Given the description of an element on the screen output the (x, y) to click on. 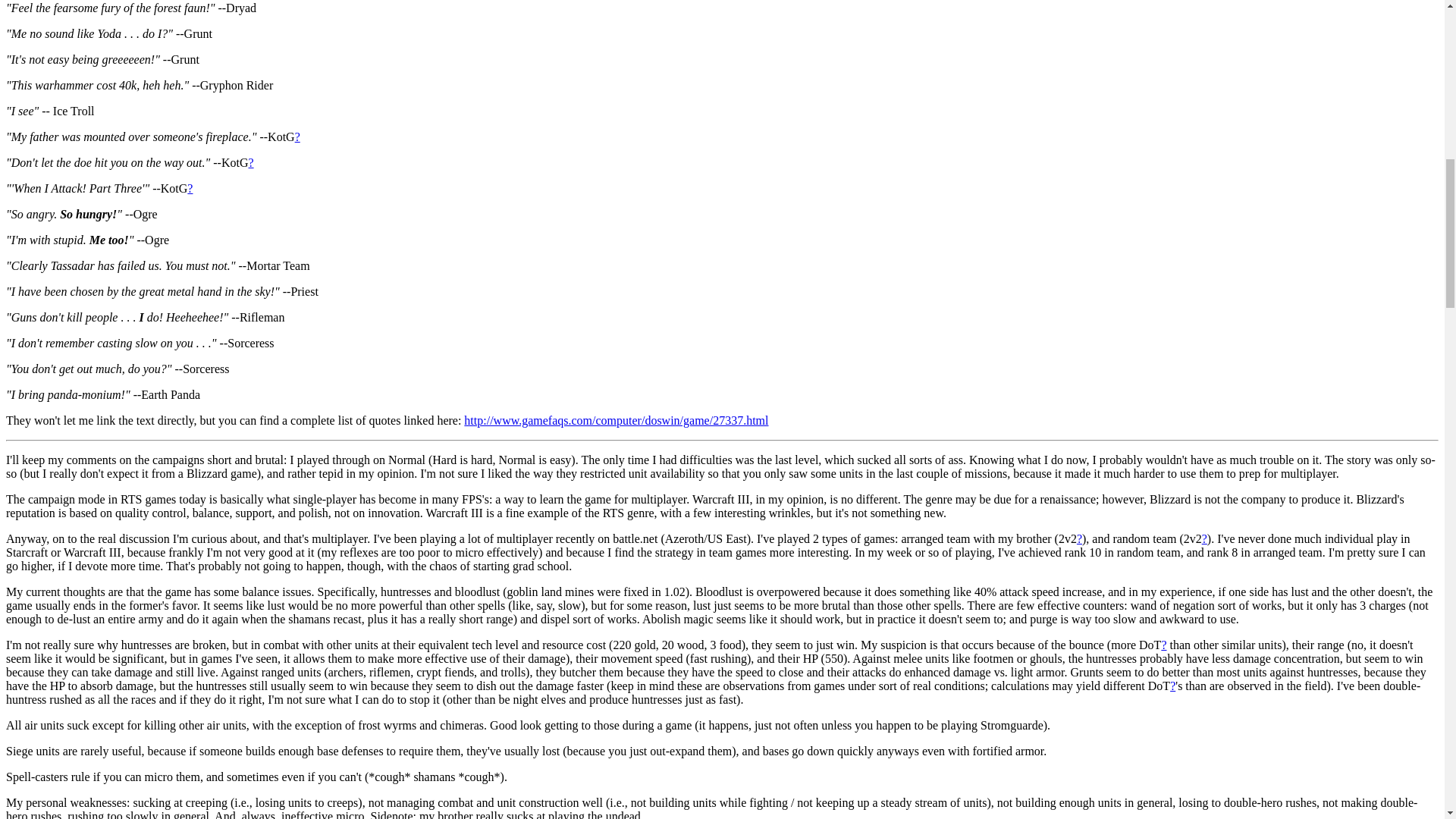
? (297, 136)
? (1204, 538)
? (1163, 644)
? (1079, 538)
? (189, 187)
? (250, 162)
? (1172, 685)
